Given the description of an element on the screen output the (x, y) to click on. 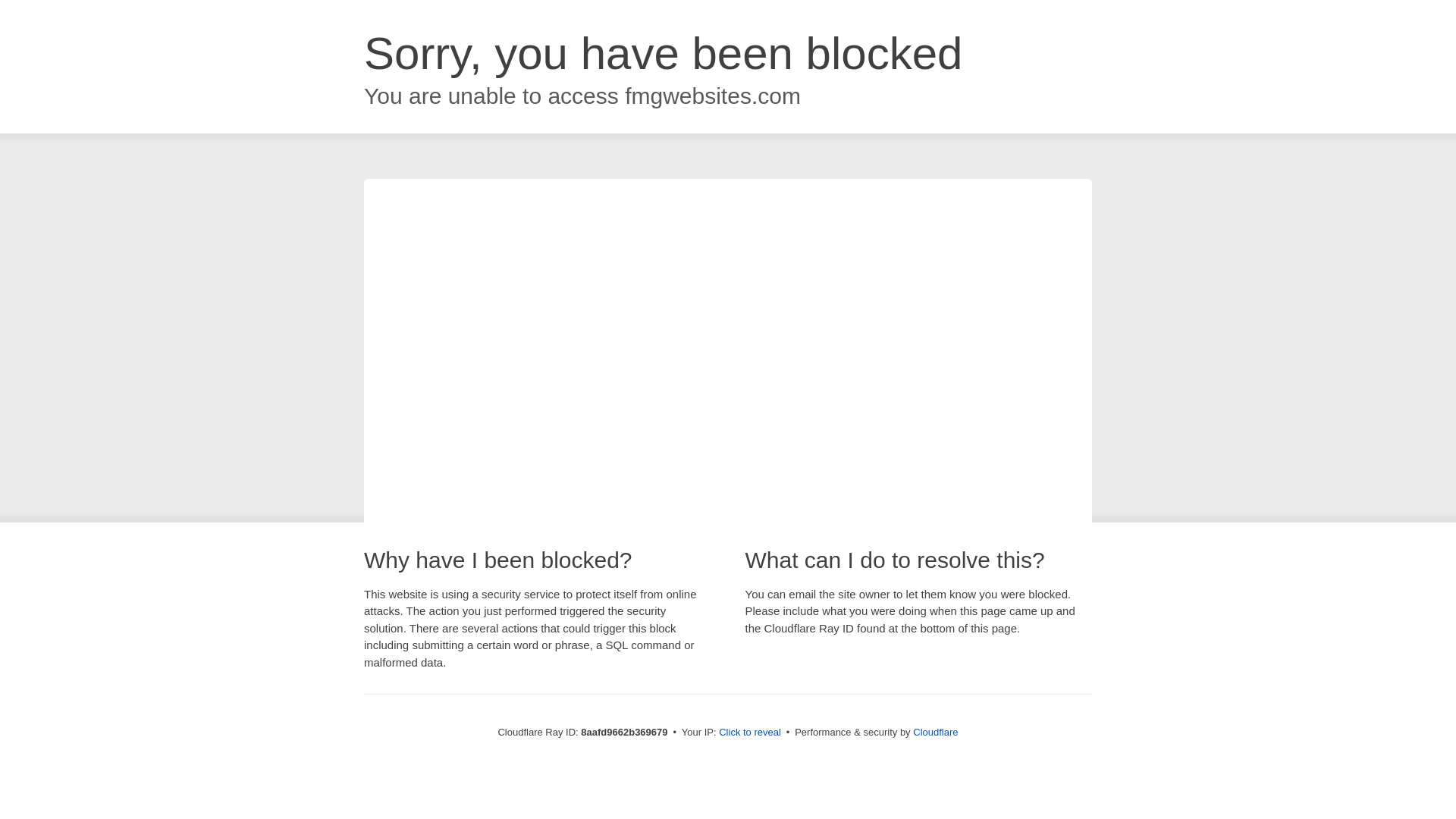
Click to reveal (749, 732)
Cloudflare (935, 731)
